Given the description of an element on the screen output the (x, y) to click on. 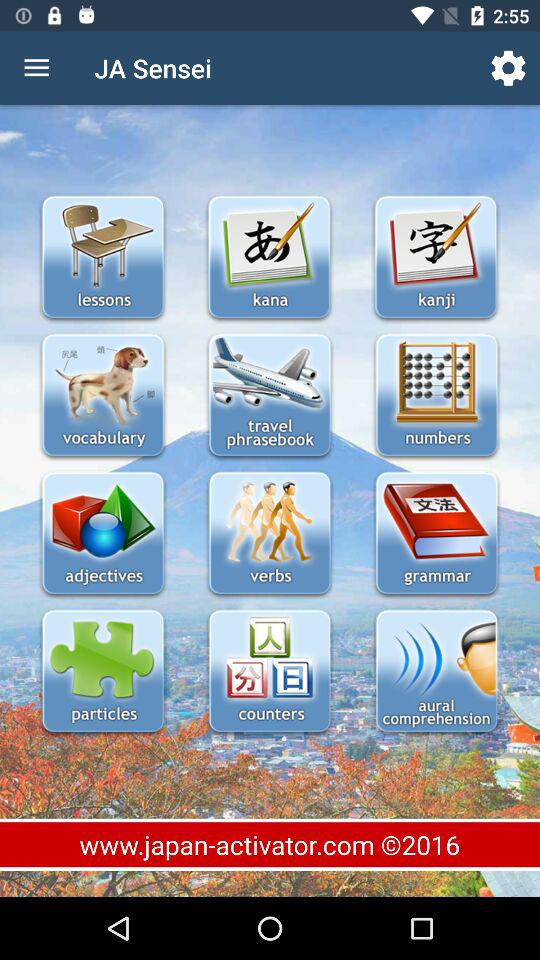
switch vocabulary option (102, 396)
